Given the description of an element on the screen output the (x, y) to click on. 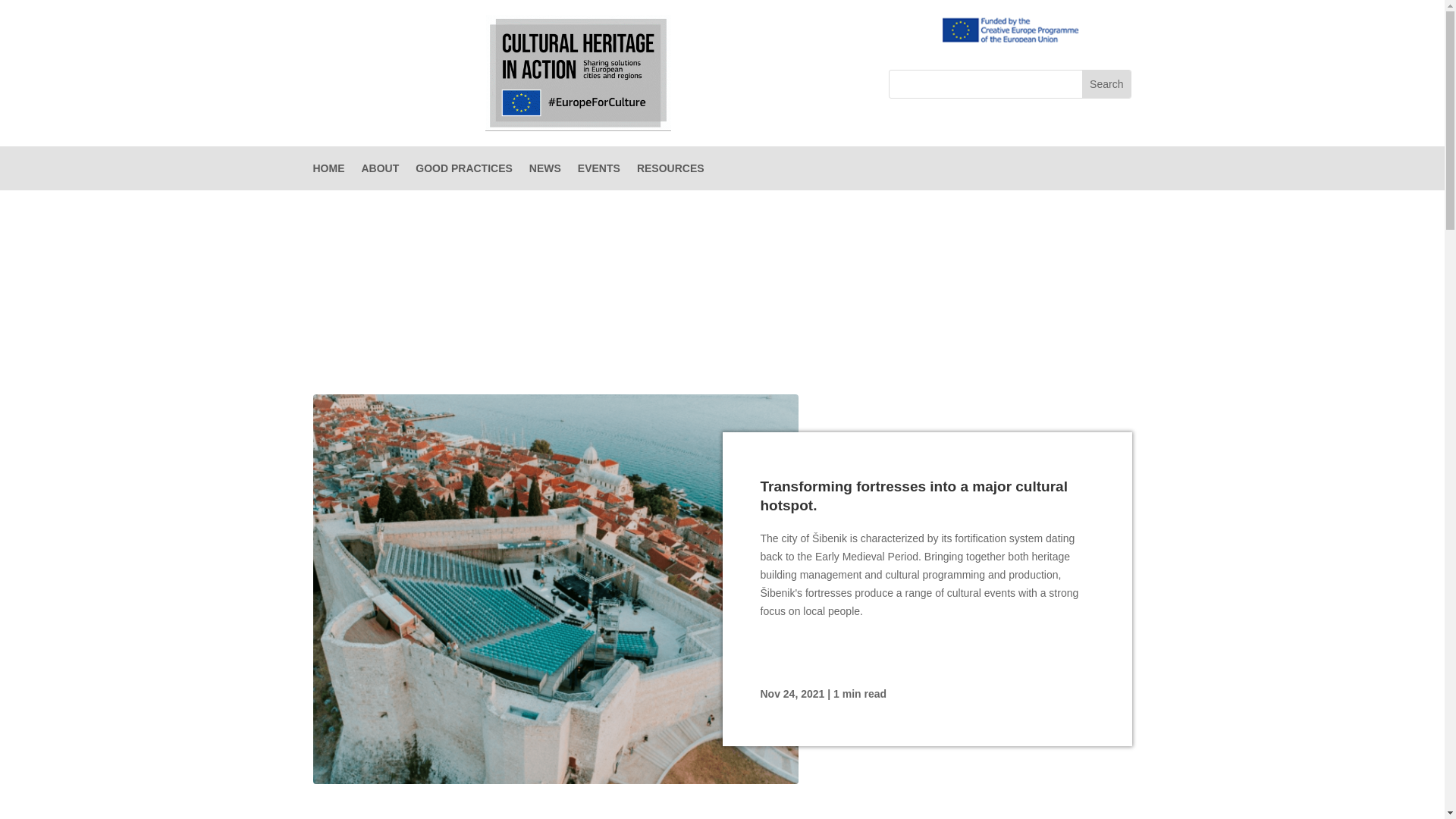
Read More (802, 645)
CHA logo gif 5sec changes (577, 73)
EVENTS (599, 170)
HOME (328, 170)
NEWS (544, 170)
Transforming fortresses into a major cultural hotspot. (913, 495)
CHA-header-EU (1010, 29)
Search (1106, 83)
RESOURCES (670, 170)
ABOUT (379, 170)
Search (1106, 83)
Search (1106, 83)
GOOD PRACTICES (463, 170)
